Given the description of an element on the screen output the (x, y) to click on. 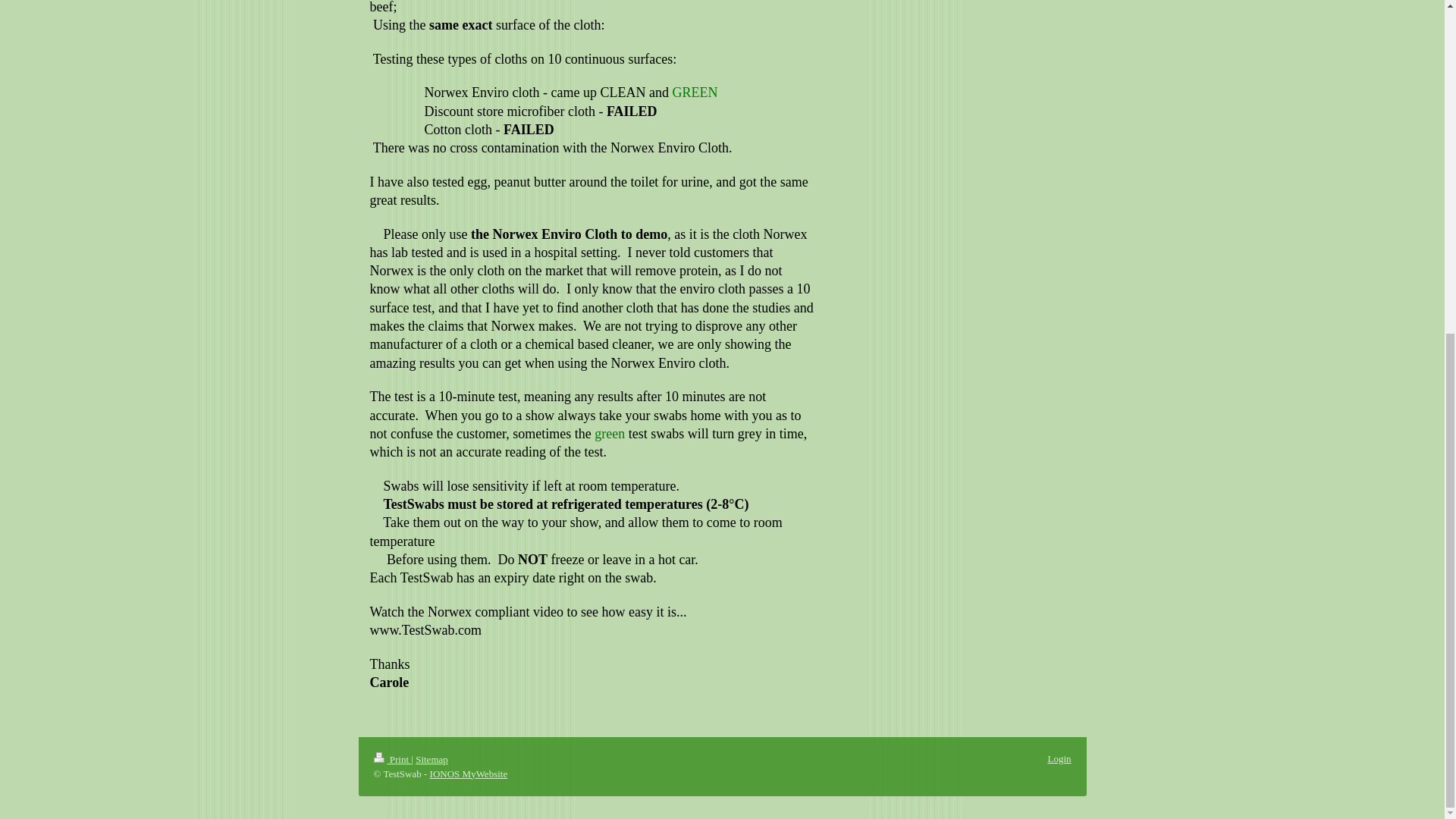
Login (1058, 758)
Sitemap (431, 758)
Print (391, 758)
IONOS MyWebsite (468, 773)
